Given the description of an element on the screen output the (x, y) to click on. 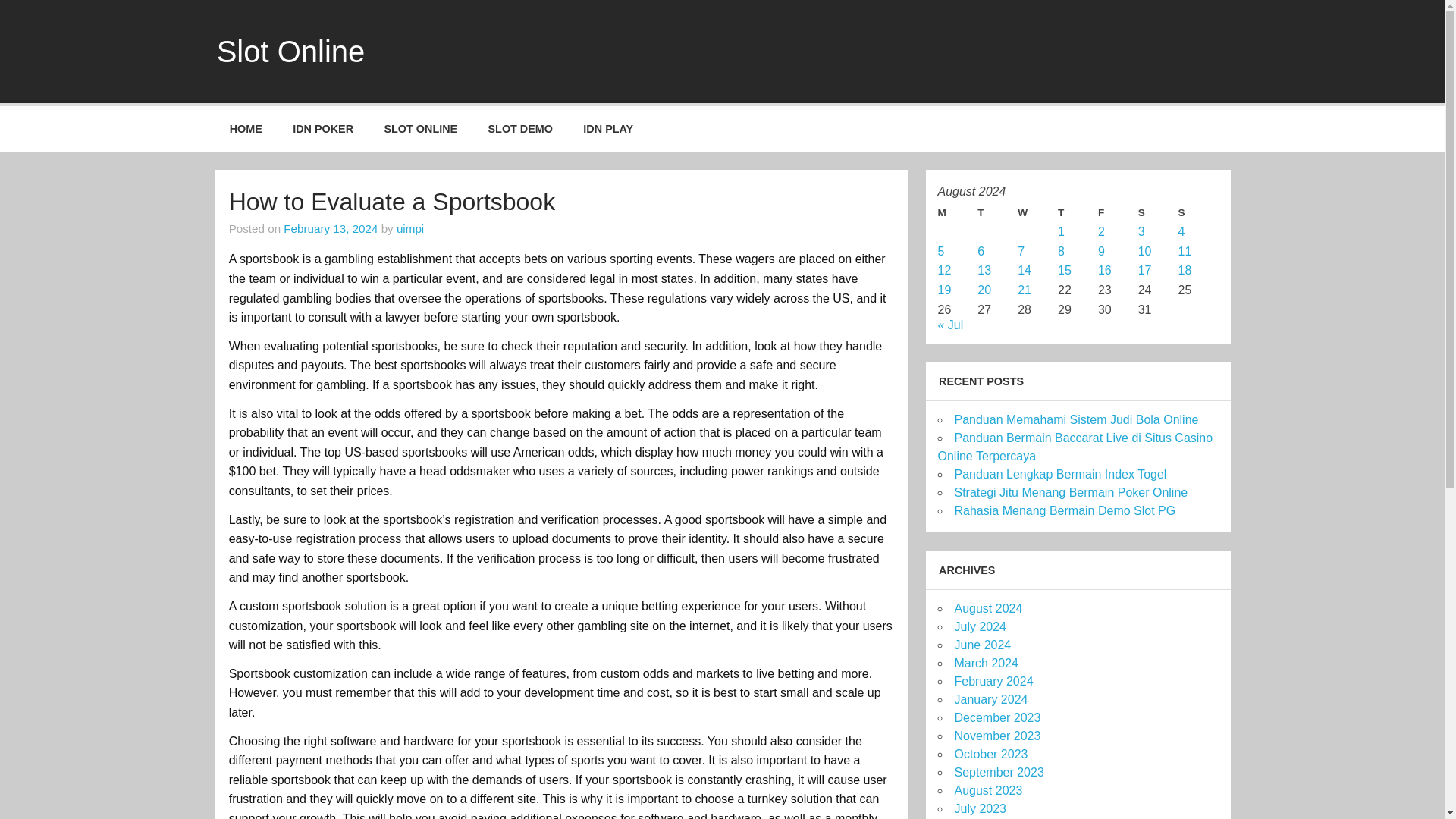
10 (1144, 250)
17 (1144, 269)
15 (1064, 269)
13 (983, 269)
Rahasia Menang Bermain Demo Slot PG (1063, 510)
HOME (246, 128)
Tuesday (996, 212)
Saturday (1157, 212)
Friday (1117, 212)
Wednesday (1037, 212)
